Given the description of an element on the screen output the (x, y) to click on. 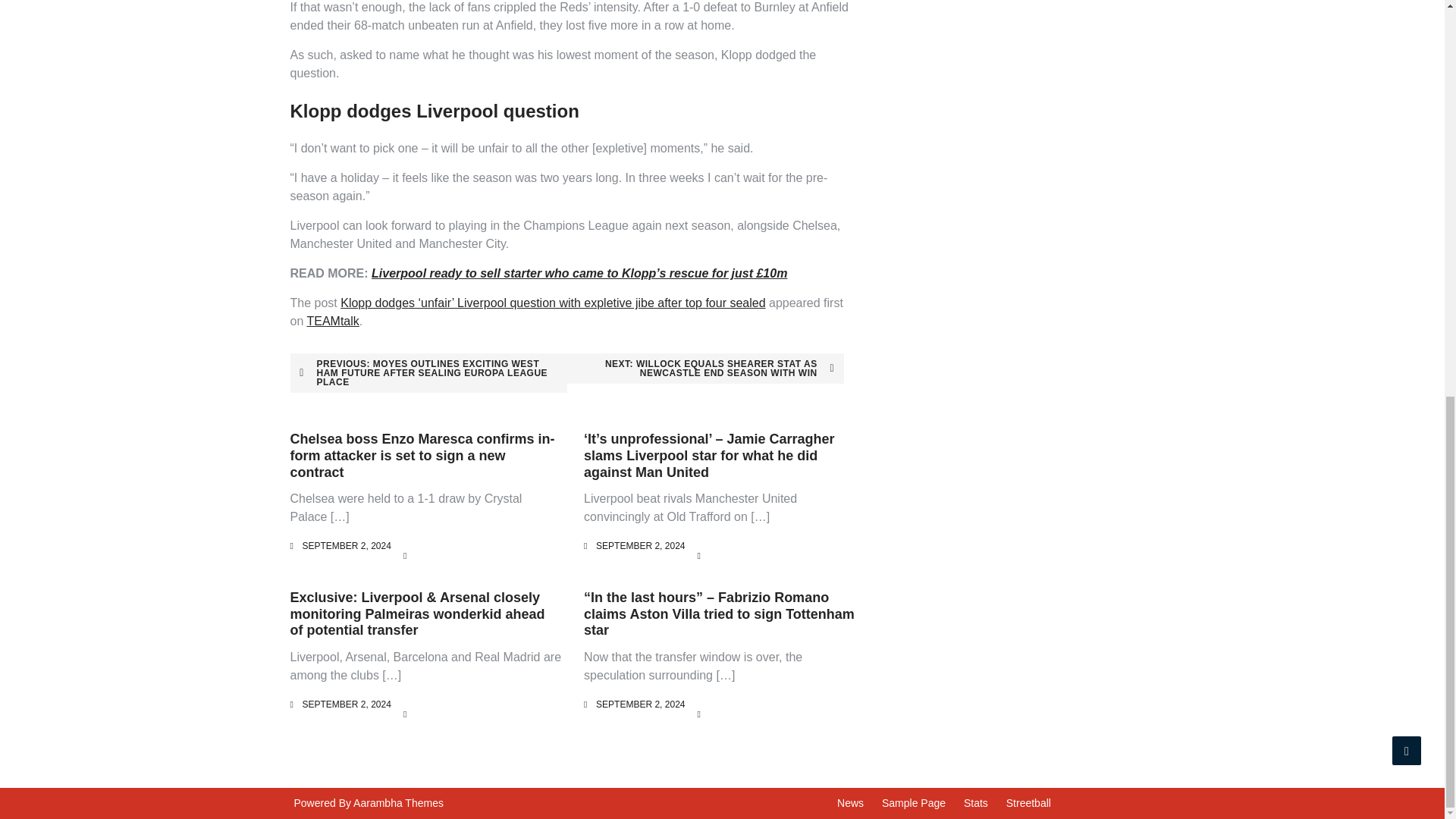
SEPTEMBER 2, 2024 (345, 704)
SEPTEMBER 2, 2024 (639, 545)
TEAMtalk (331, 320)
SEPTEMBER 2, 2024 (639, 704)
SEPTEMBER 2, 2024 (345, 545)
